Given the description of an element on the screen output the (x, y) to click on. 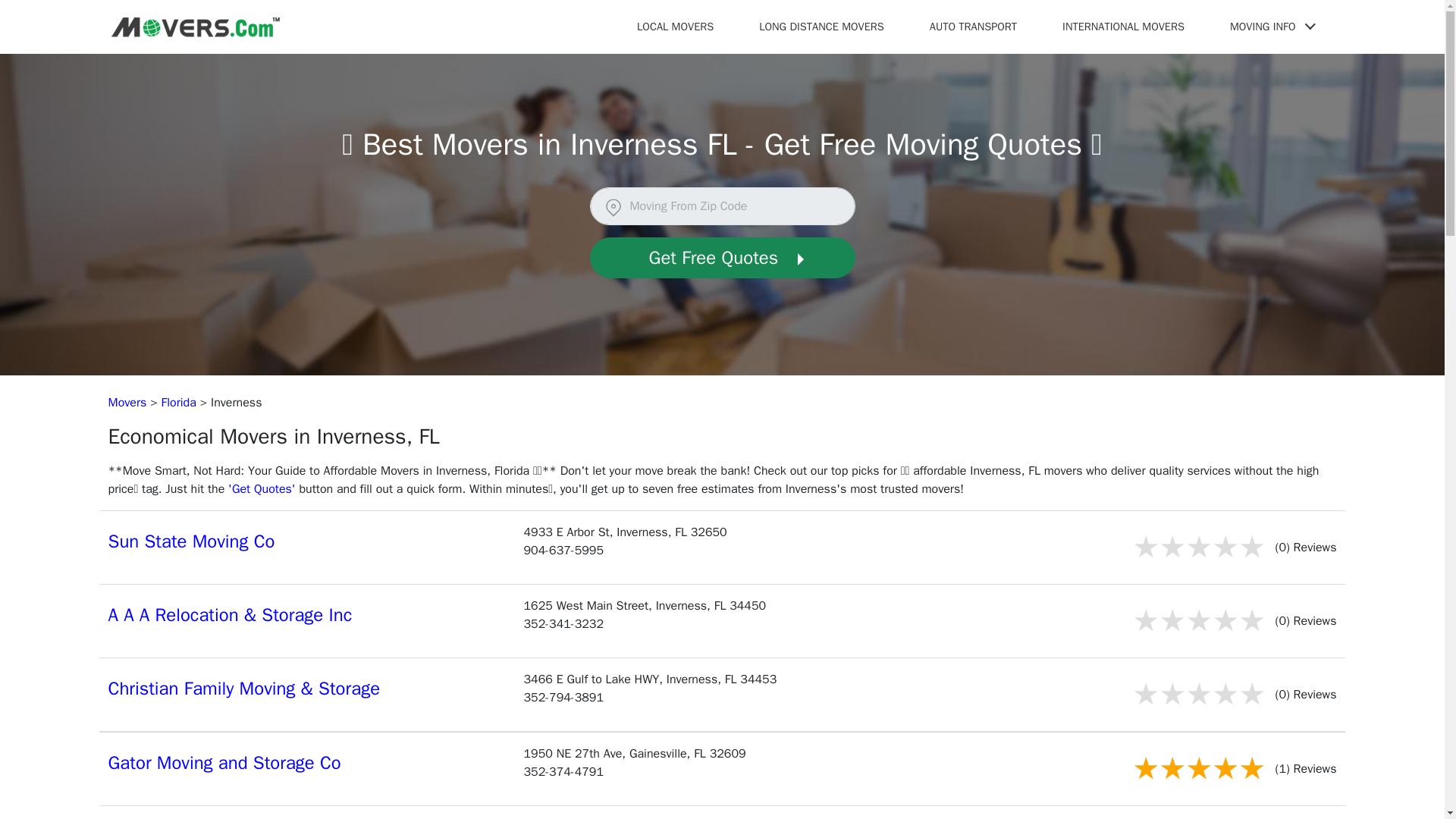
MOVING INFO (1271, 26)
0.0 (1198, 547)
Movers (127, 402)
0.0 (1198, 694)
LONG DISTANCE MOVERS (821, 26)
AUTO TRANSPORT (973, 26)
'Get Quotes' (261, 488)
5.0 (1198, 768)
Sun State Moving Co (191, 540)
LOCAL MOVERS (675, 26)
Get Free Quotes (722, 257)
Florida (178, 402)
INTERNATIONAL MOVERS (1123, 26)
Gator Moving and Storage Co (223, 762)
0.0 (1198, 620)
